Given the description of an element on the screen output the (x, y) to click on. 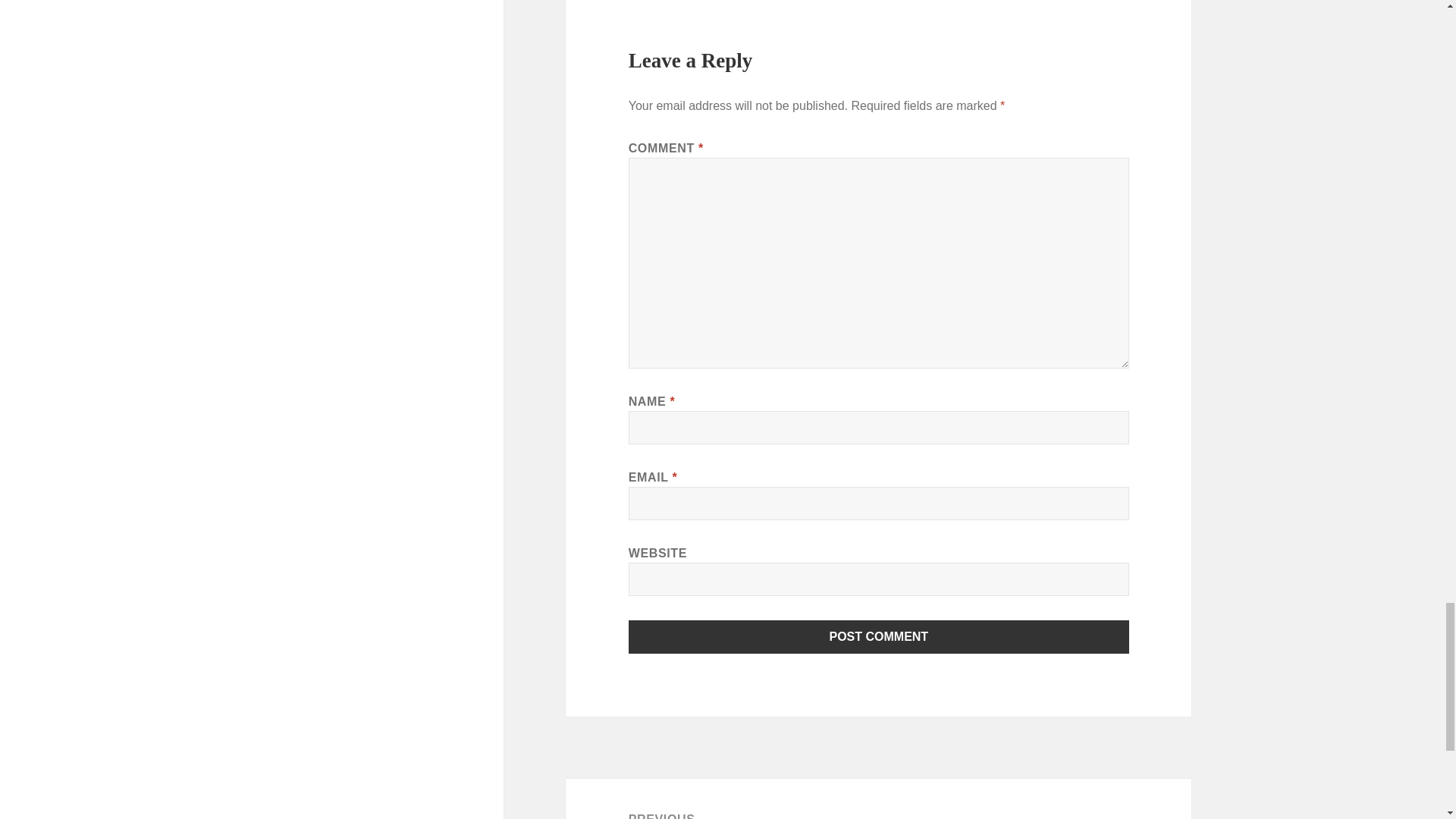
Post Comment (878, 636)
Post Comment (878, 636)
